Given the description of an element on the screen output the (x, y) to click on. 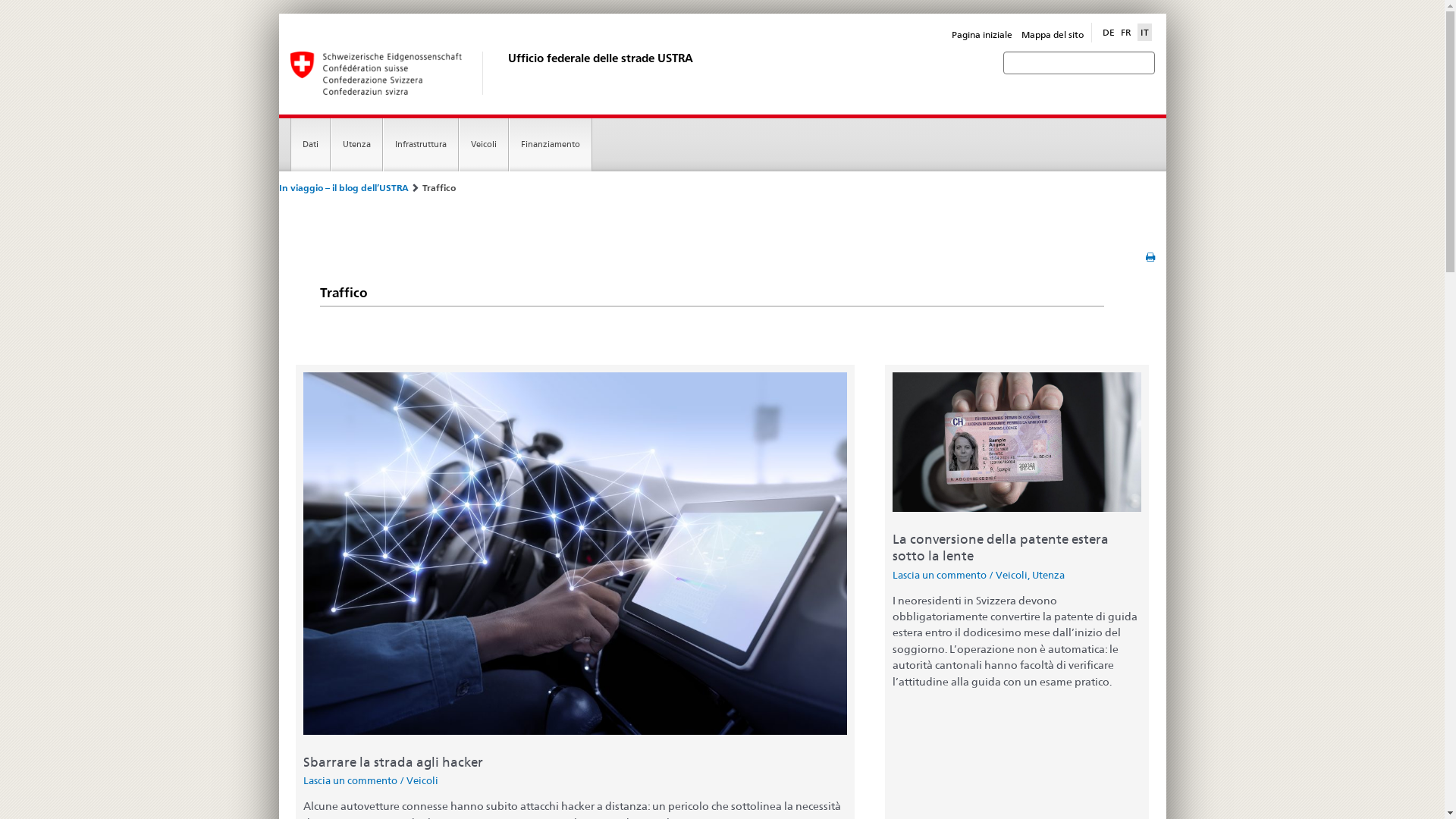
Mappa del sito Element type: text (1051, 34)
Lascia un commento Element type: text (350, 780)
Infrastruttura Element type: text (420, 144)
Utenza Element type: text (355, 144)
Lascia un commento Element type: text (939, 574)
La conversione della patente estera sotto la lente Element type: text (1000, 547)
Utenza Element type: text (1048, 574)
IT Element type: text (1144, 32)
FR Element type: text (1125, 32)
Pagina iniziale Element type: text (981, 34)
DE Element type: text (1108, 32)
Sbarrare la strada agli hacker Element type: text (393, 761)
Veicoli Element type: text (1011, 574)
Seite drucken Element type: hover (1149, 257)
Veicoli Element type: text (422, 780)
Veicoli Element type: text (483, 144)
Finanziamento Element type: text (550, 144)
Dati Element type: text (310, 144)
